Given the description of an element on the screen output the (x, y) to click on. 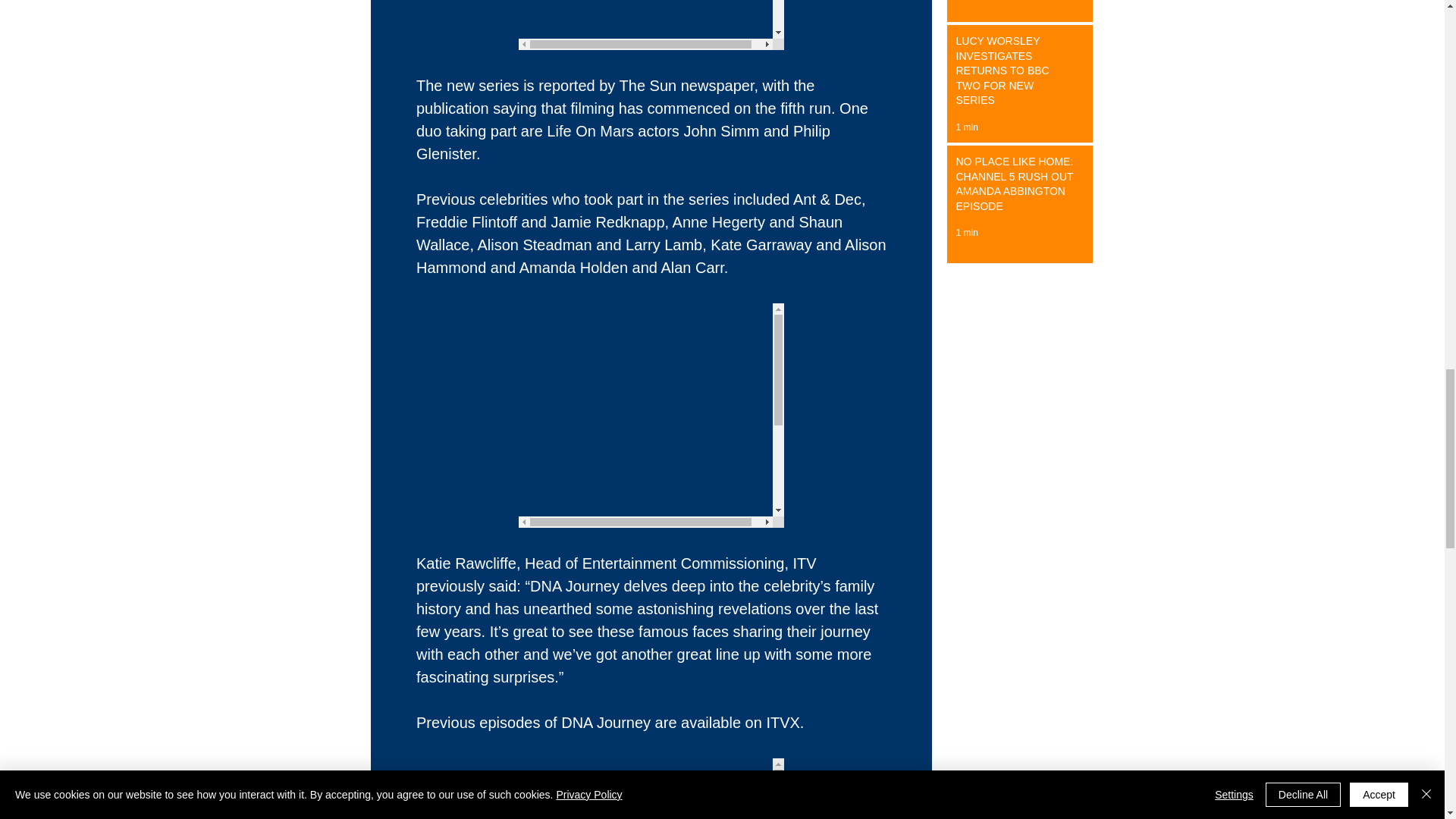
remote content (651, 24)
1 min (965, 232)
1 min (965, 127)
remote content (651, 415)
remote content (651, 788)
